Given the description of an element on the screen output the (x, y) to click on. 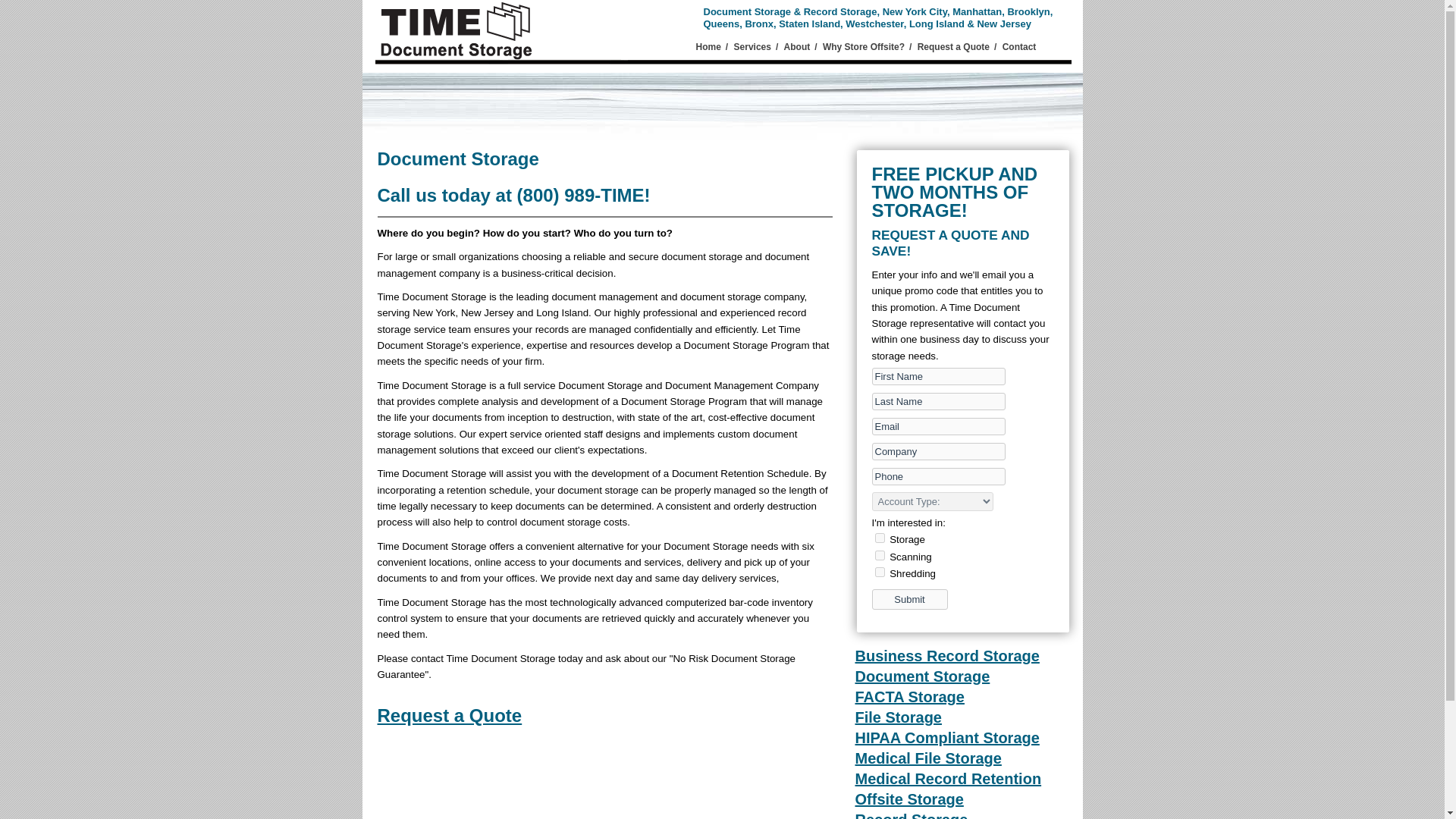
HIPAA Compliant Storage (947, 737)
Why Store Offsite? (863, 46)
Submit (909, 598)
About (797, 46)
File Storage (899, 717)
Submit (909, 598)
Services (752, 46)
Offsite Storage (909, 799)
Last Name (939, 401)
Contact (1019, 46)
